Given the description of an element on the screen output the (x, y) to click on. 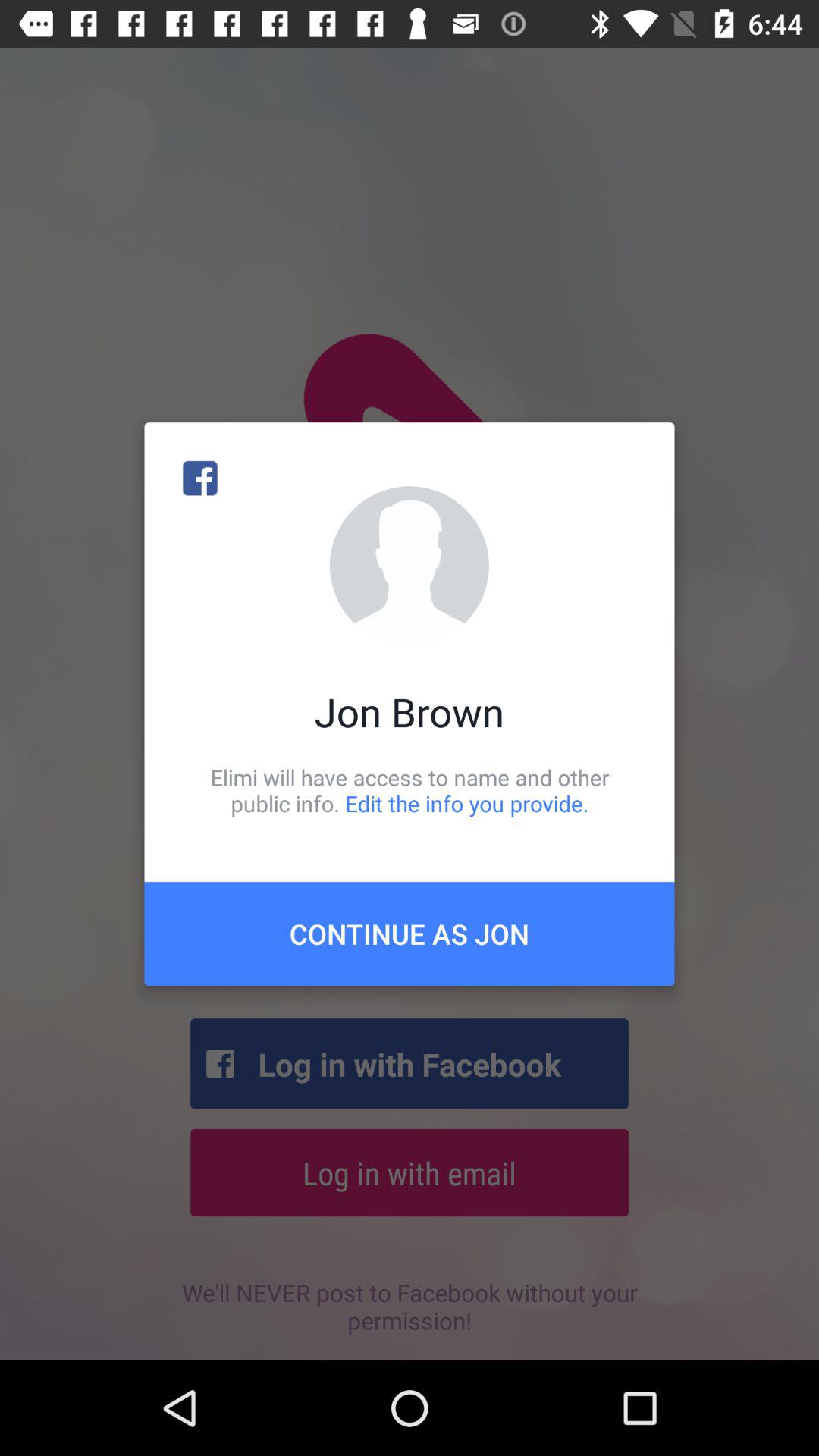
tap the item below jon brown (409, 790)
